Given the description of an element on the screen output the (x, y) to click on. 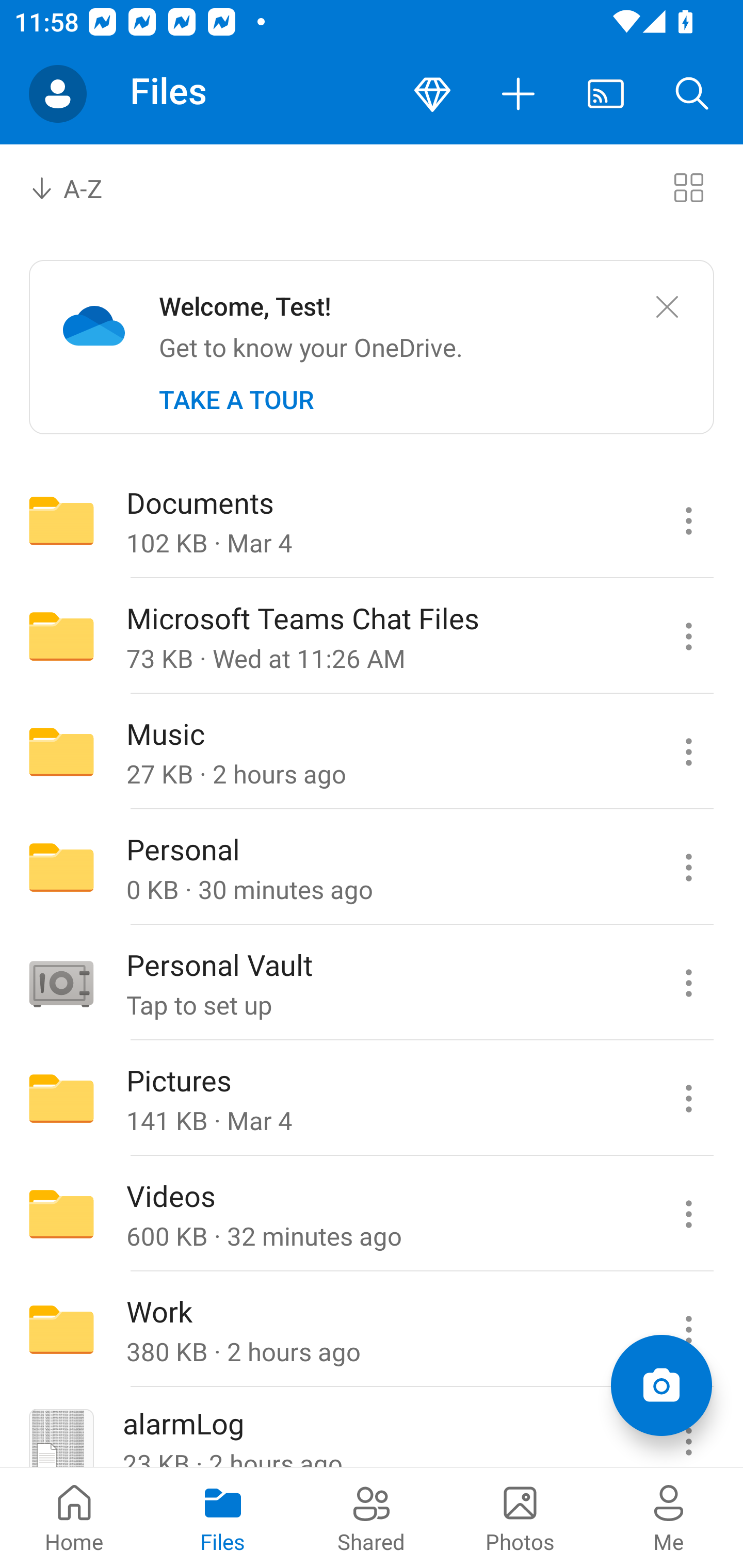
Account switcher (57, 93)
Cast. Disconnected (605, 93)
Premium button (432, 93)
More actions button (518, 93)
Search button (692, 93)
A-Z Sort by combo box, sort by name, A to Z (80, 187)
Switch to tiles view (688, 187)
Close (667, 307)
TAKE A TOUR (236, 399)
Folder Documents 102 KB · Mar 4 Documents commands (371, 520)
Documents commands (688, 520)
Microsoft Teams Chat Files commands (688, 636)
Folder Music 27 KB · 2 hours ago Music commands (371, 751)
Music commands (688, 751)
Personal commands (688, 867)
Personal Vault commands (688, 983)
Folder Pictures 141 KB · Mar 4 Pictures commands (371, 1099)
Pictures commands (688, 1099)
Videos commands (688, 1214)
Folder Work 380 KB · 2 hours ago Work commands (371, 1329)
Work commands (688, 1329)
Add items Scan (660, 1385)
alarmLog commands (688, 1427)
Home pivot Home (74, 1517)
Shared pivot Shared (371, 1517)
Photos pivot Photos (519, 1517)
Me pivot Me (668, 1517)
